Given the description of an element on the screen output the (x, y) to click on. 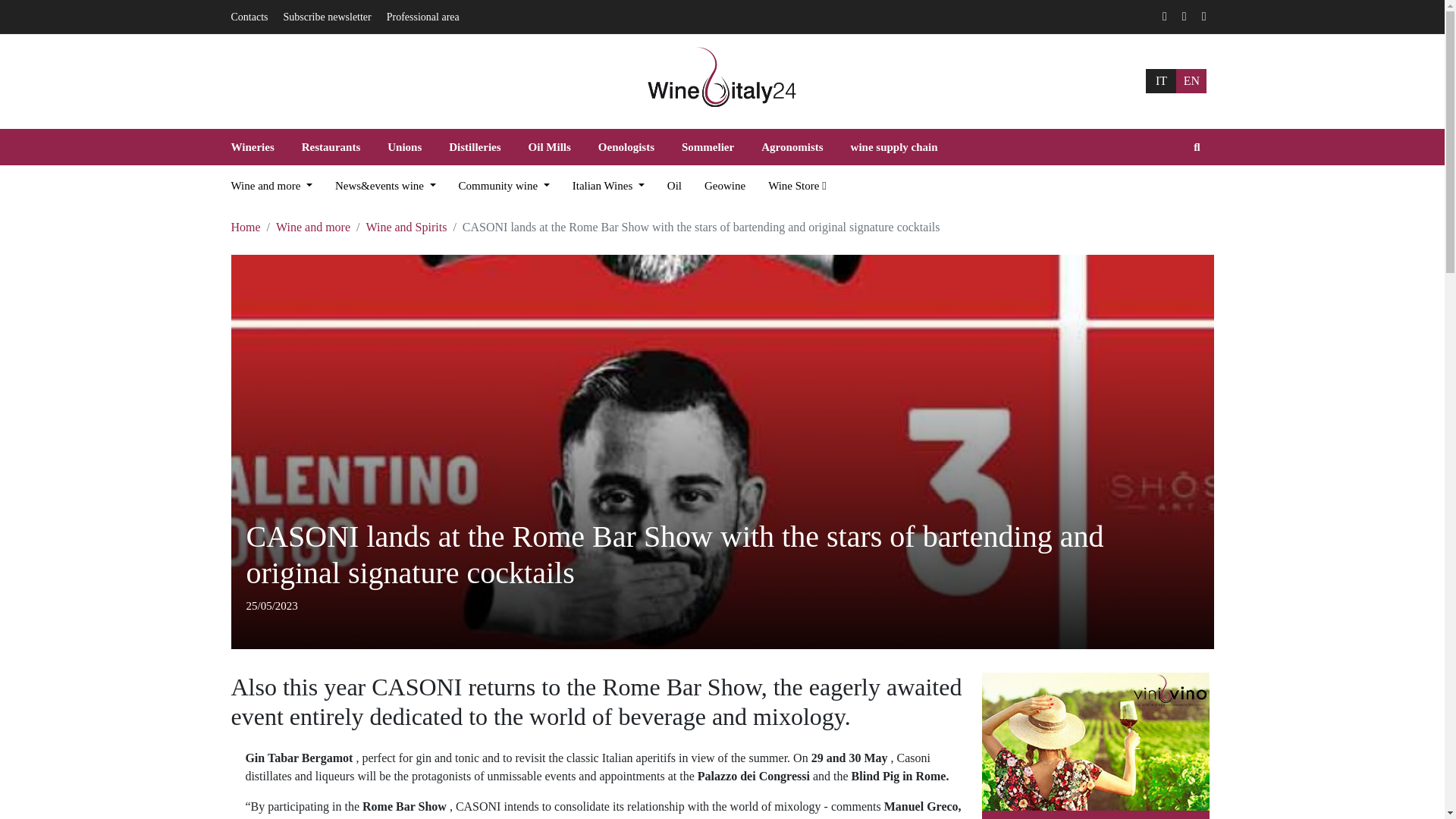
Oenologists (626, 147)
Agronomists (791, 147)
IT (1160, 80)
Sommelier (708, 147)
EN (1191, 80)
Oil Mills (550, 147)
Restaurants (331, 147)
Wine and more (270, 185)
Subscribe newsletter (327, 16)
Professional area (423, 16)
Unions (404, 147)
Distilleries (474, 147)
Wineries (258, 147)
wine supply chain (894, 147)
Contacts (248, 16)
